Given the description of an element on the screen output the (x, y) to click on. 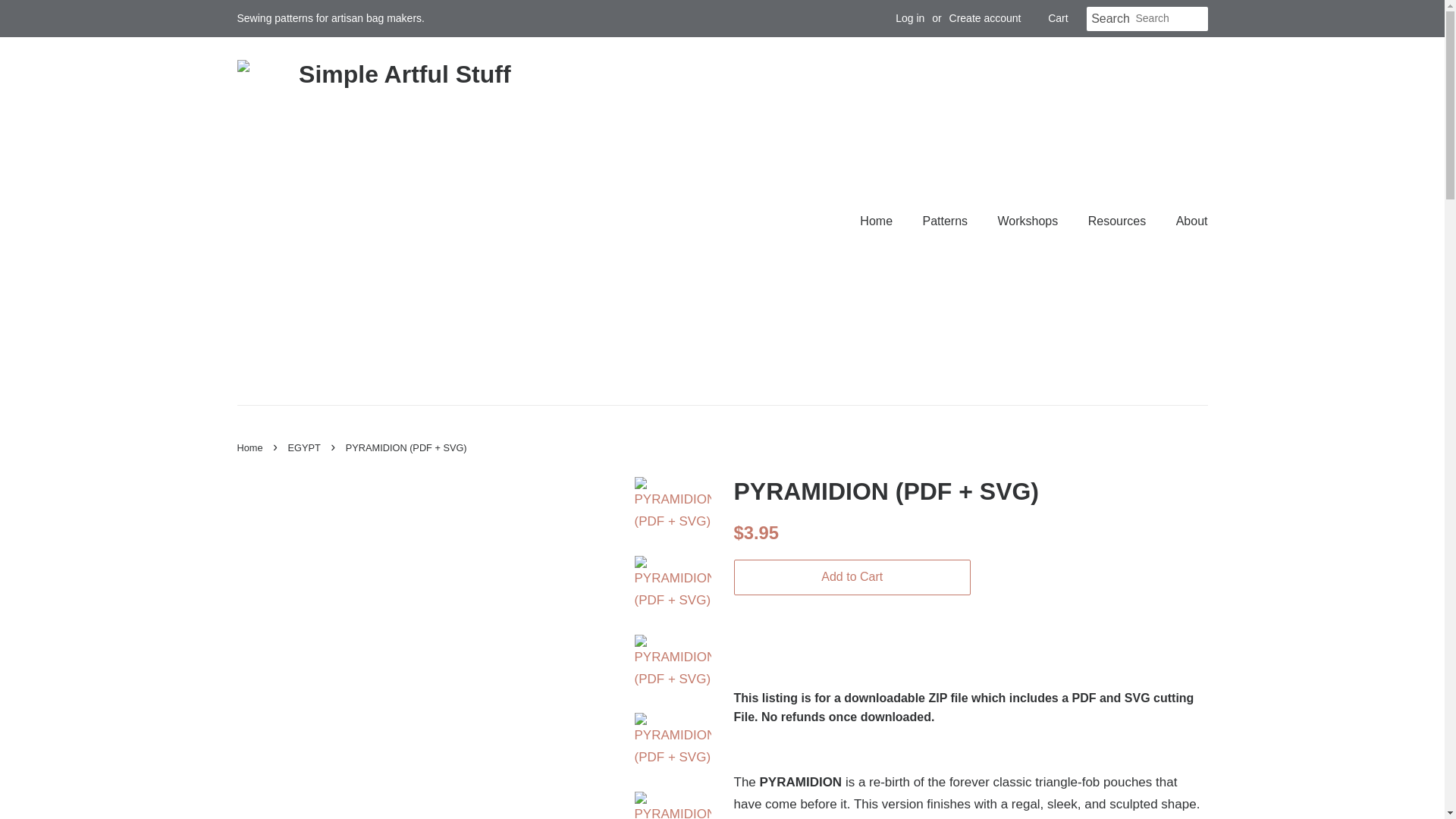
Back to the frontpage (250, 447)
Cart (1057, 18)
Resources (1118, 220)
Search (1110, 18)
Create account (985, 18)
Patterns (946, 220)
Home (883, 220)
Workshops (1030, 220)
Log in (909, 18)
